Given the description of an element on the screen output the (x, y) to click on. 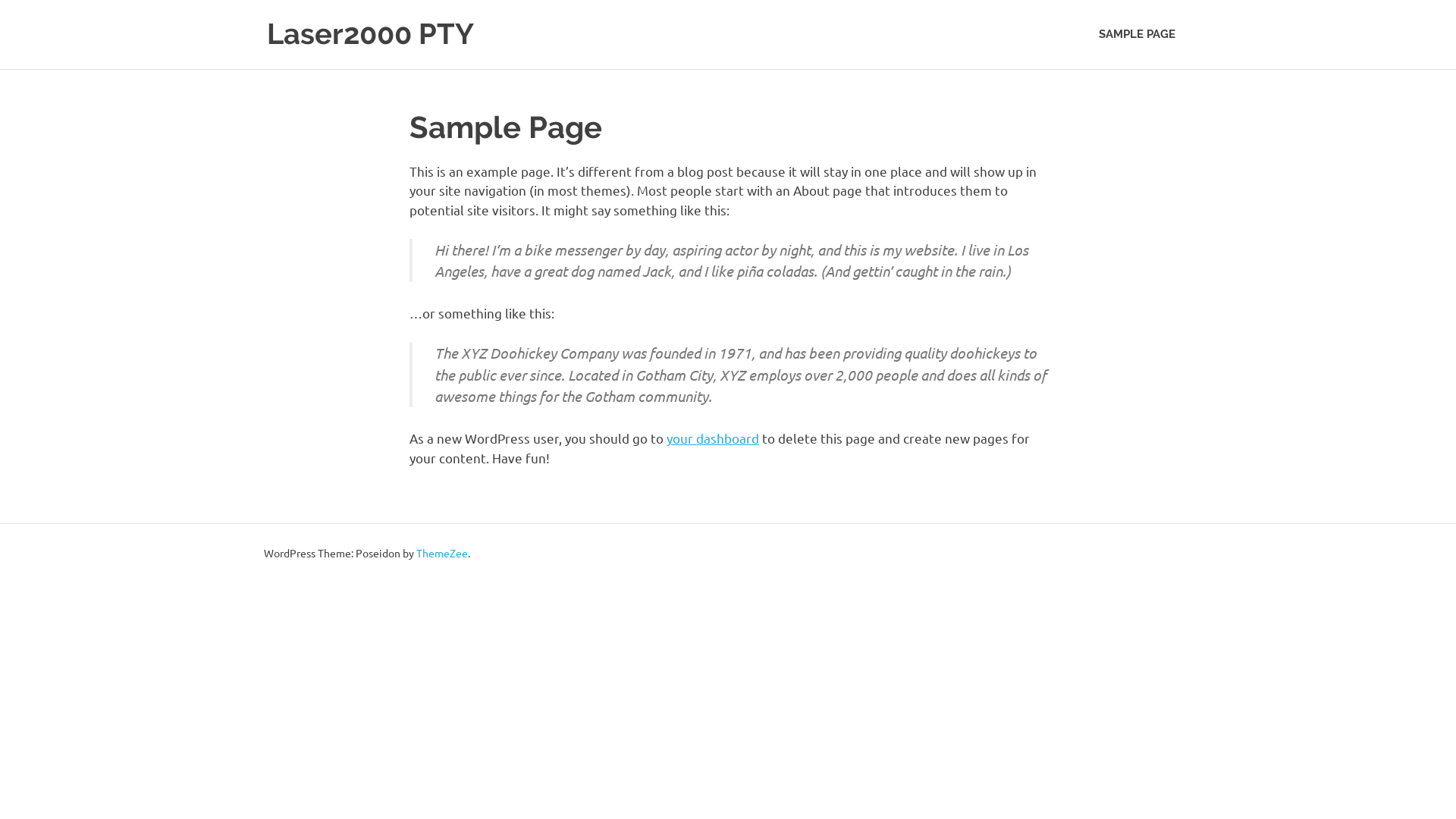
your dashboard Element type: text (712, 437)
SAMPLE PAGE Element type: text (1137, 34)
ThemeZee Element type: text (441, 552)
Laser2000 PTY Element type: text (369, 33)
